Given the description of an element on the screen output the (x, y) to click on. 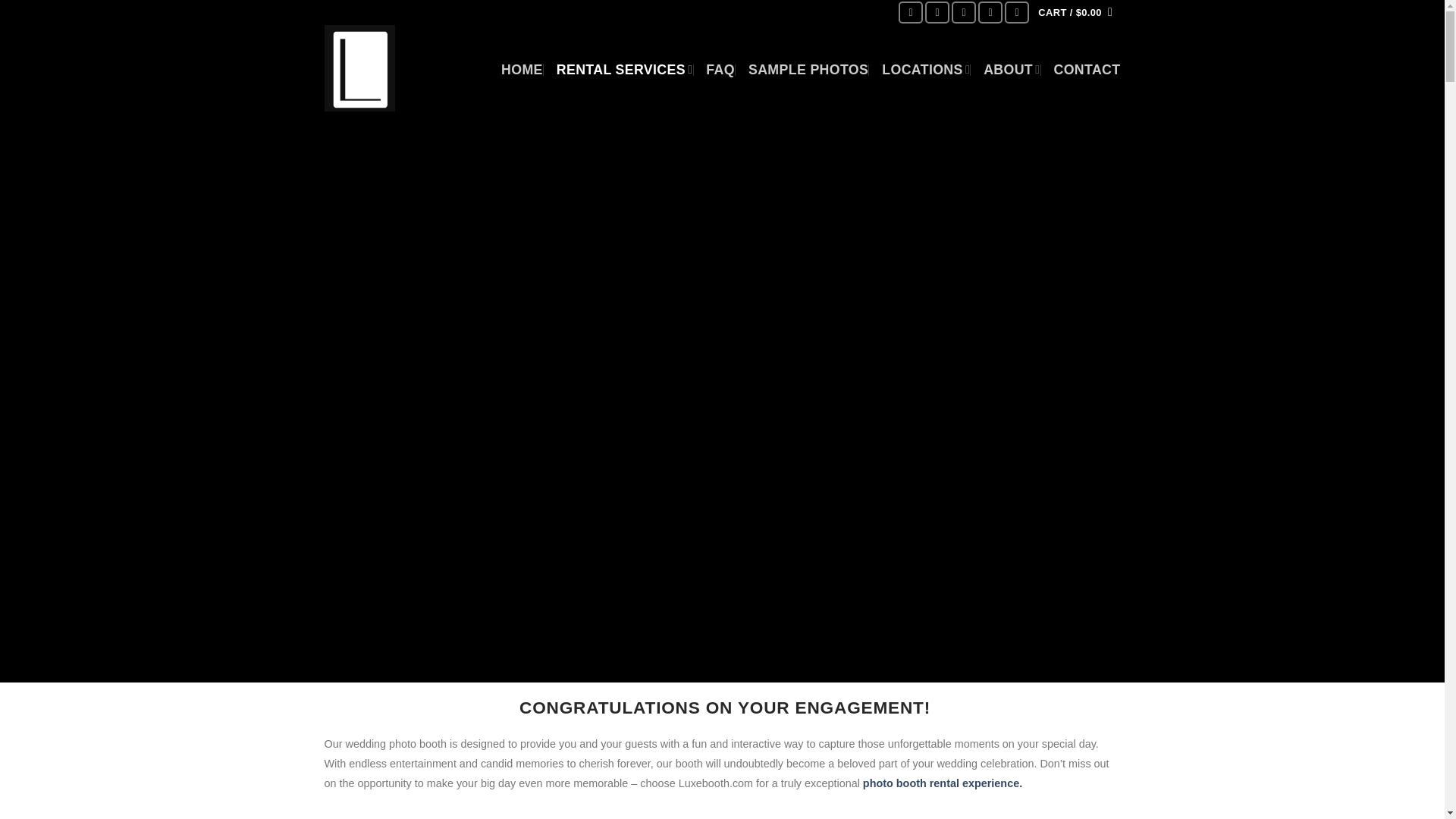
Follow on Instagram (936, 12)
Follow on Facebook (910, 12)
Cart (1074, 12)
Send us an email (990, 12)
Follow on Twitter (963, 12)
Follow on YouTube (1016, 12)
